Given the description of an element on the screen output the (x, y) to click on. 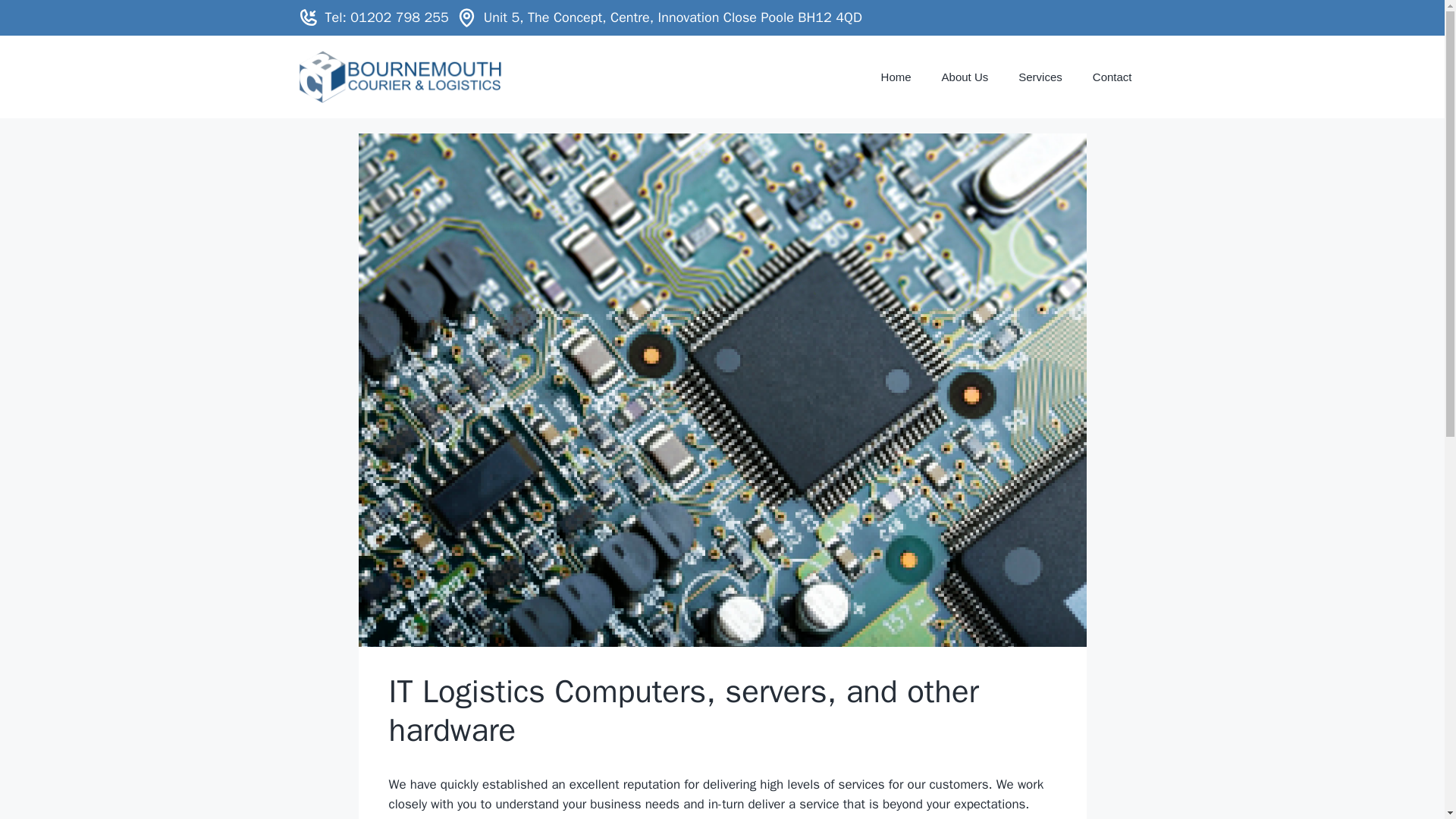
About Us (965, 76)
Services (1040, 76)
Contact (1112, 76)
Home (896, 76)
